Given the description of an element on the screen output the (x, y) to click on. 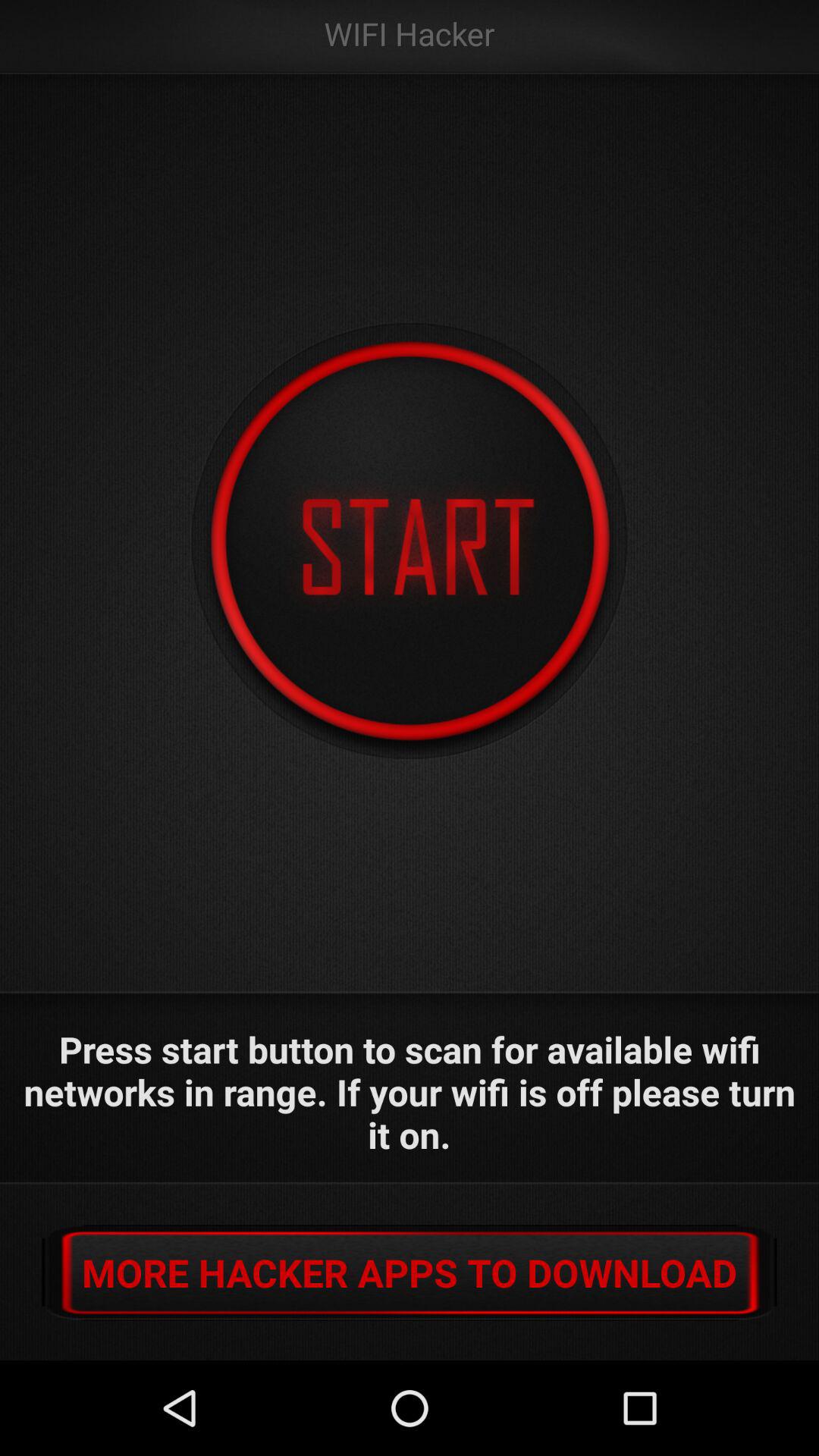
flip until the more hacker apps (409, 1272)
